Given the description of an element on the screen output the (x, y) to click on. 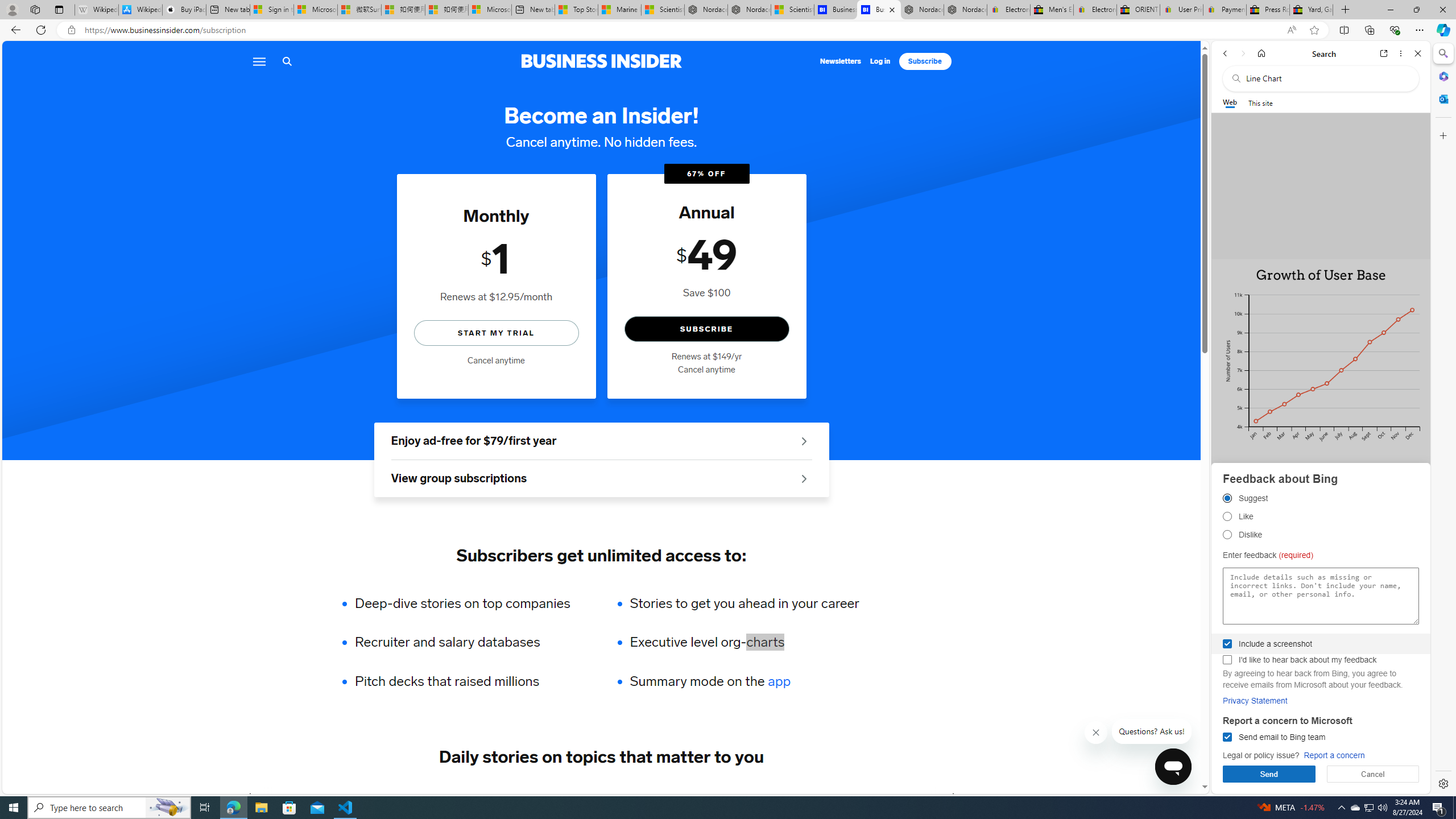
FINANCE (485, 796)
Include a screenshot (1227, 643)
Suggest (1227, 497)
Log in (880, 61)
